Given the description of an element on the screen output the (x, y) to click on. 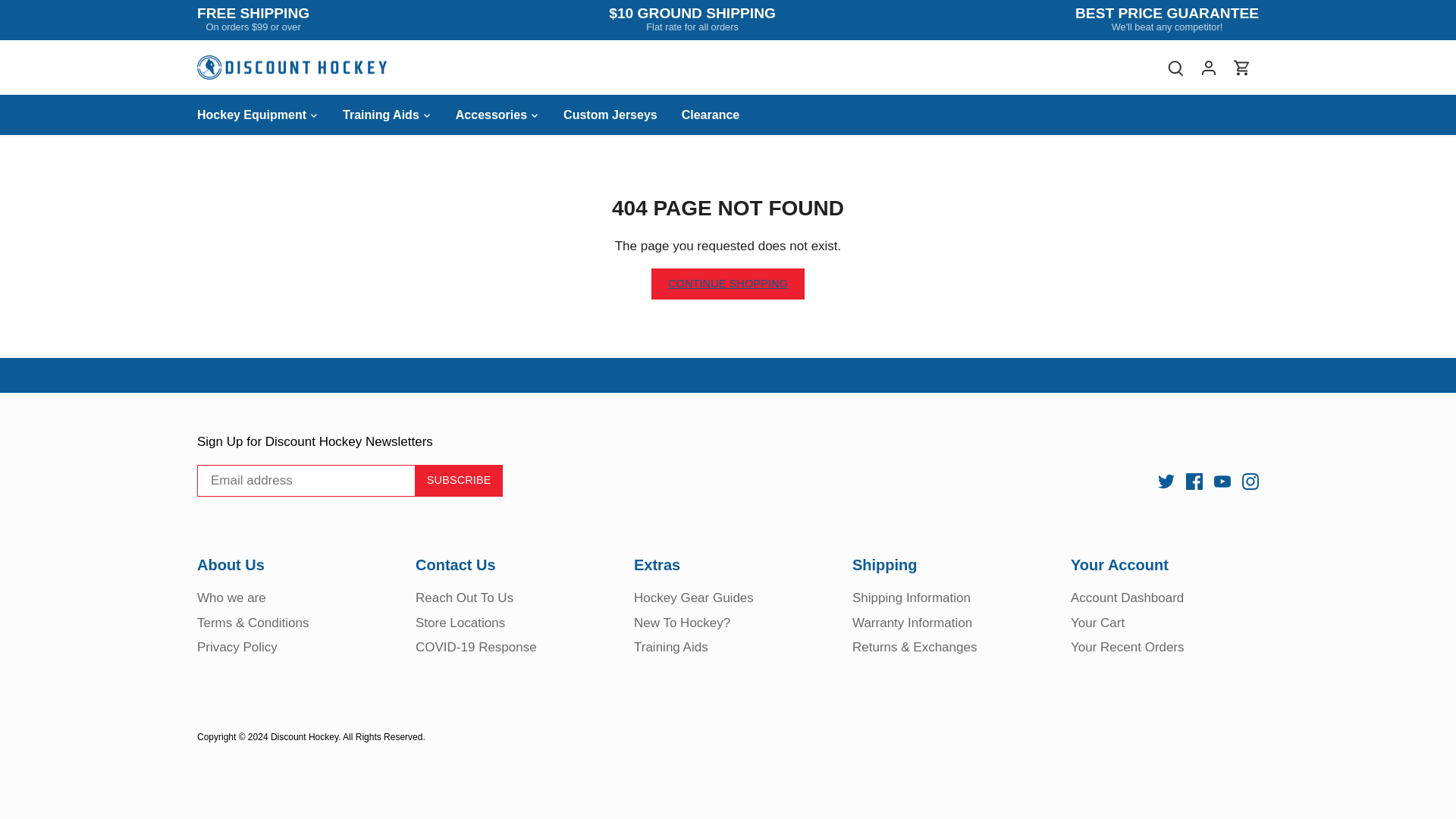
Subscribe (458, 480)
Twitter (1165, 481)
Facebook (1194, 481)
Instagram (1250, 481)
Youtube (1222, 481)
Hockey Equipment (257, 115)
